Given the description of an element on the screen output the (x, y) to click on. 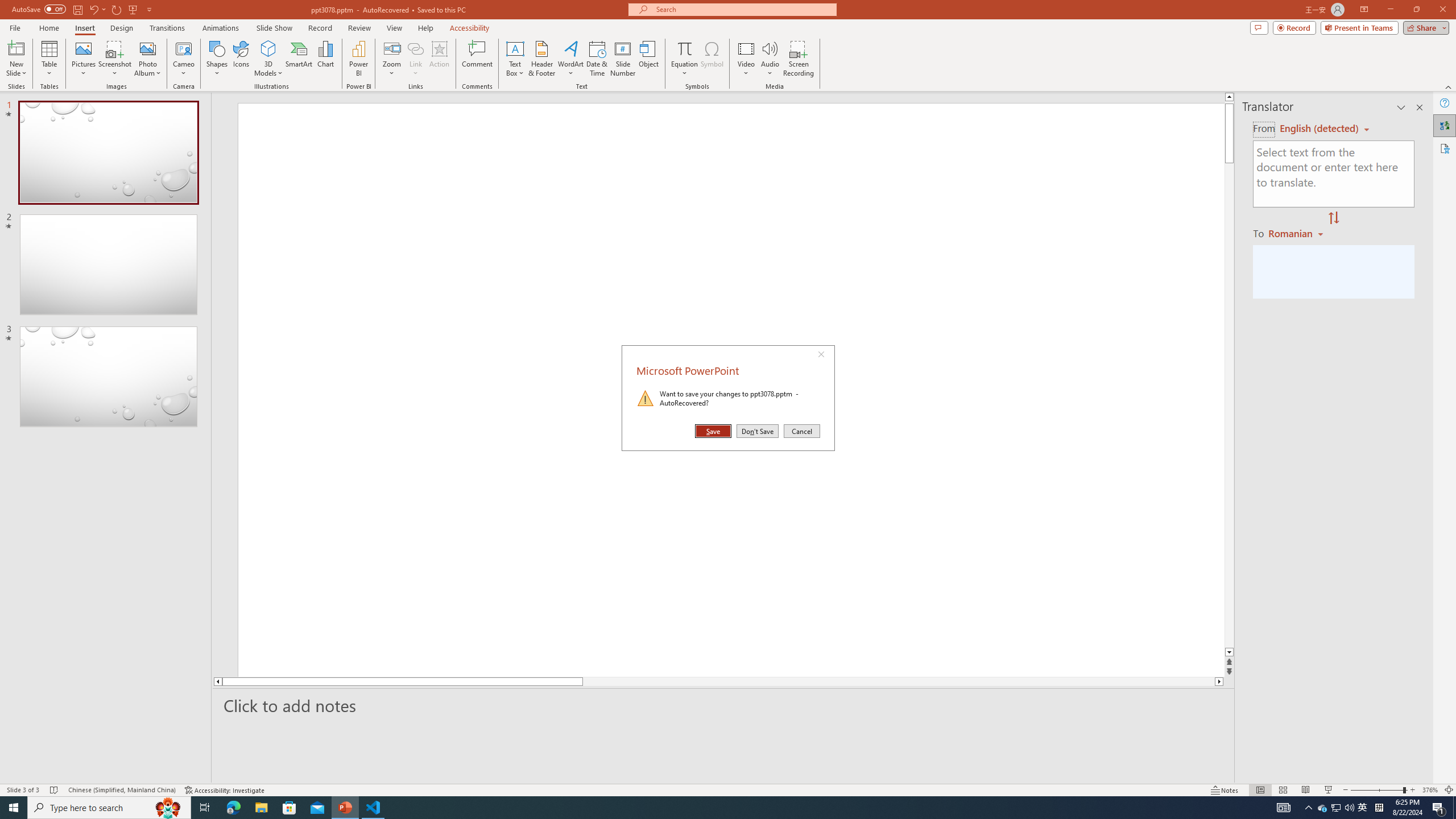
Icons (240, 58)
Link (415, 48)
Object... (649, 58)
